Given the description of an element on the screen output the (x, y) to click on. 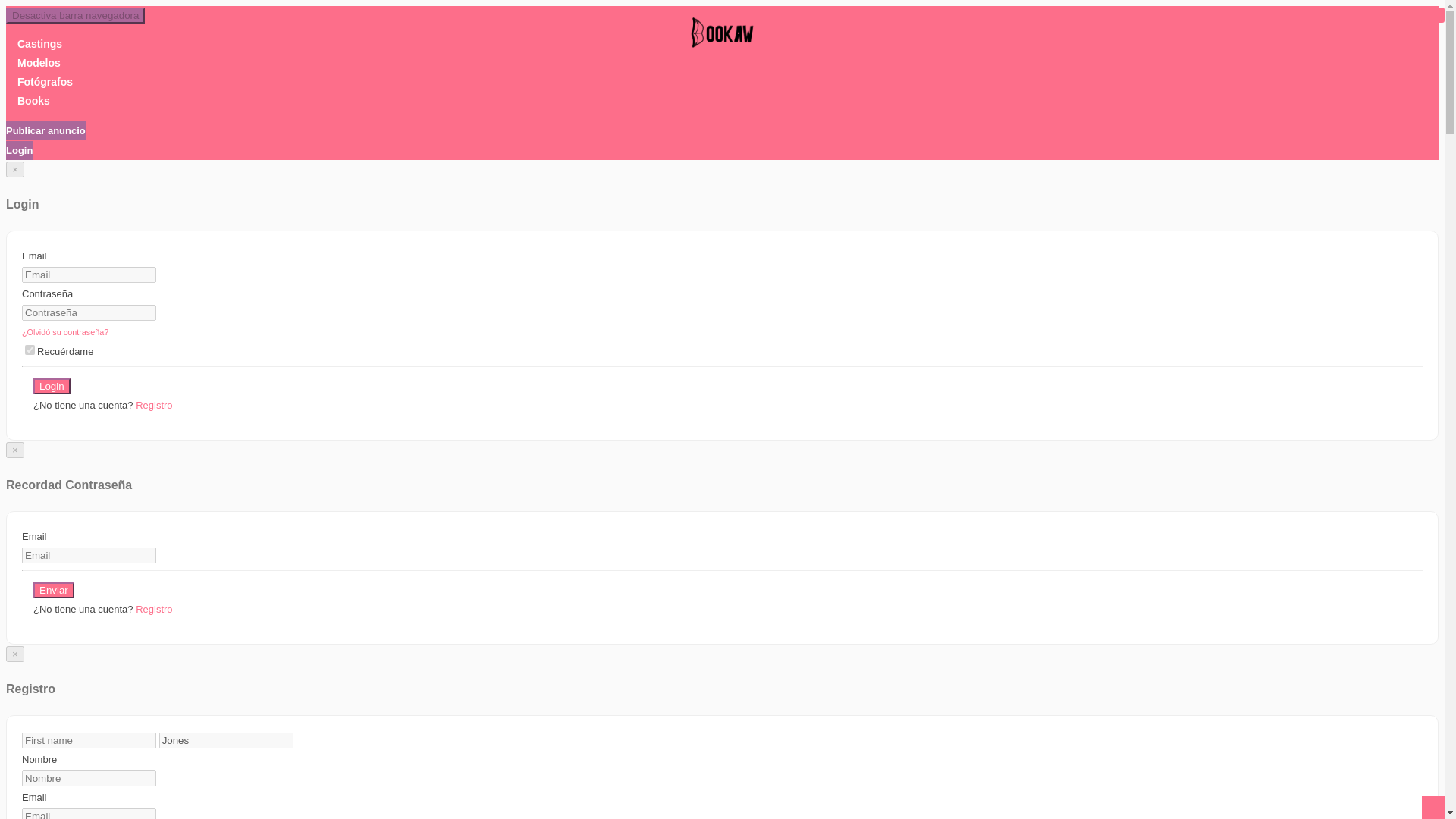
Modelos (39, 62)
Castings (39, 43)
Jones (226, 740)
Publicar anuncio (45, 130)
Login (51, 385)
Enviar (53, 590)
Registro (153, 405)
Books (33, 101)
on (29, 349)
Login (18, 149)
Desactiva barra navegadora (74, 15)
Bookaw - Mercadillo de instagramers! (722, 39)
Registro (153, 609)
